Given the description of an element on the screen output the (x, y) to click on. 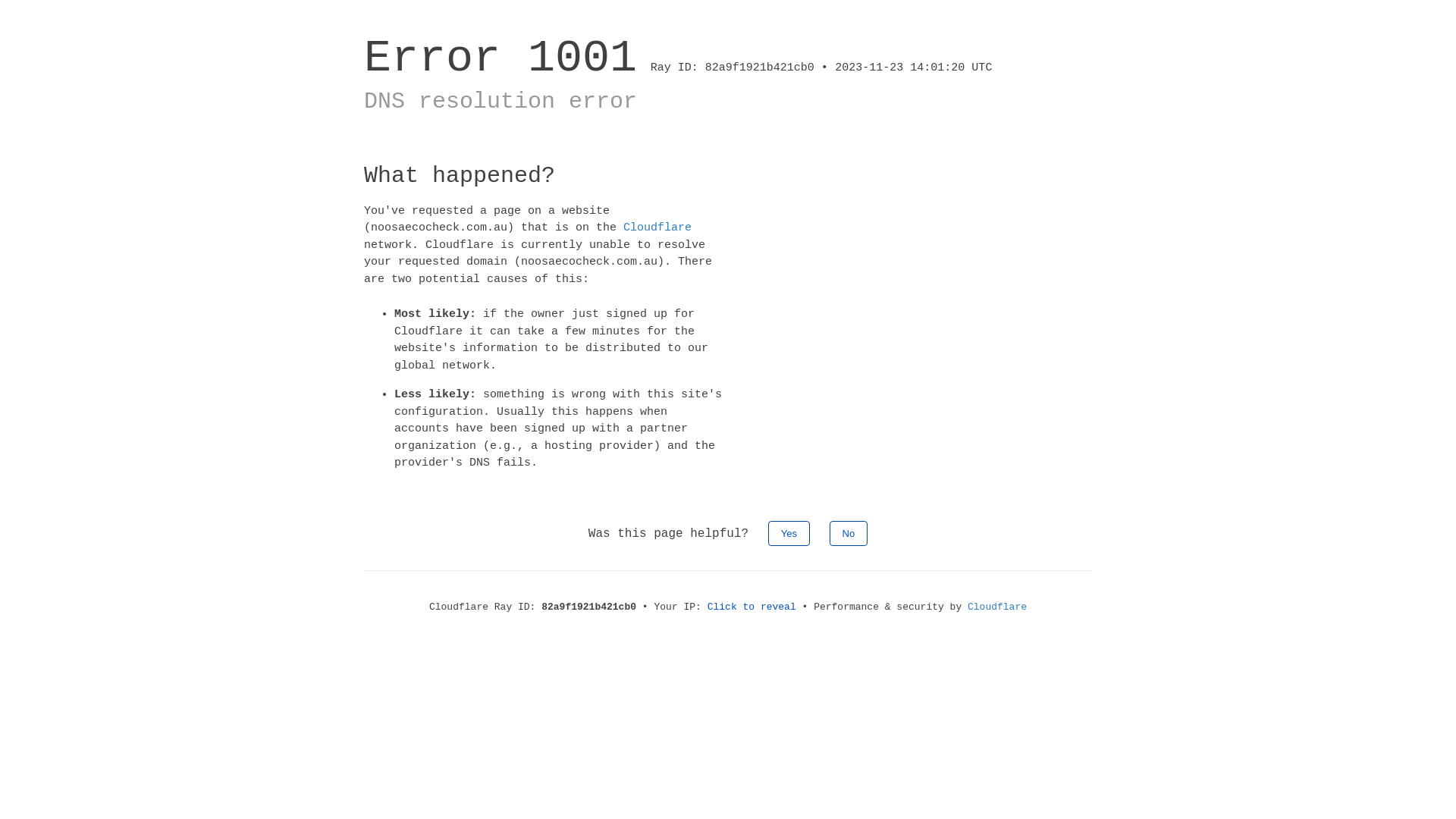
Cloudflare Element type: text (657, 227)
Click to reveal Element type: text (751, 605)
Yes Element type: text (788, 532)
Cloudflare Element type: text (996, 605)
No Element type: text (848, 532)
